Given the description of an element on the screen output the (x, y) to click on. 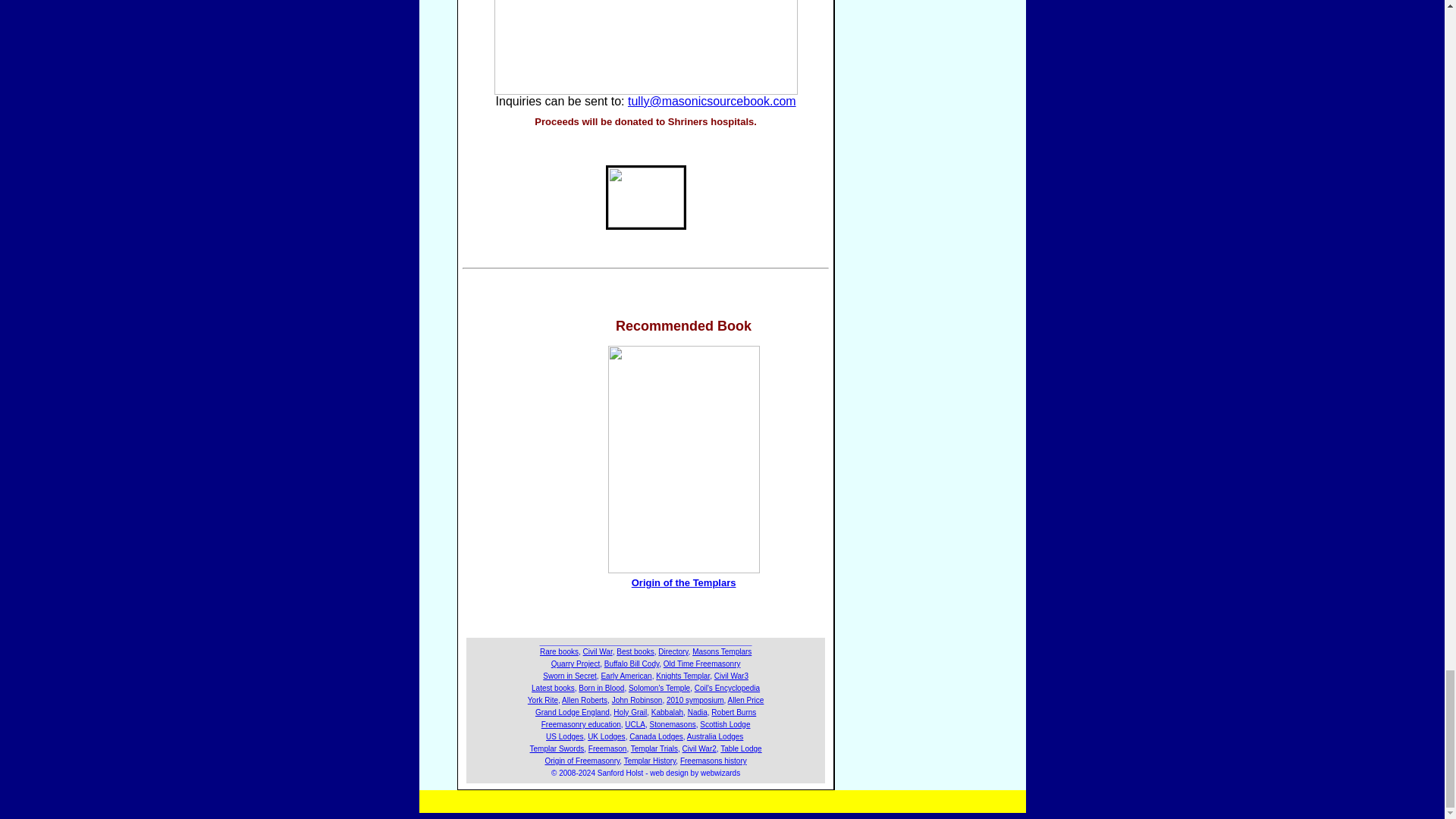
Civil War (597, 651)
Stonemasons (672, 724)
Allen Roberts (584, 700)
Rare books (559, 651)
Freemasonry education (581, 724)
Quarry Project (575, 664)
Scottish Lodge (724, 724)
Best books (634, 651)
Allen Price (746, 700)
Directory (672, 651)
